Given the description of an element on the screen output the (x, y) to click on. 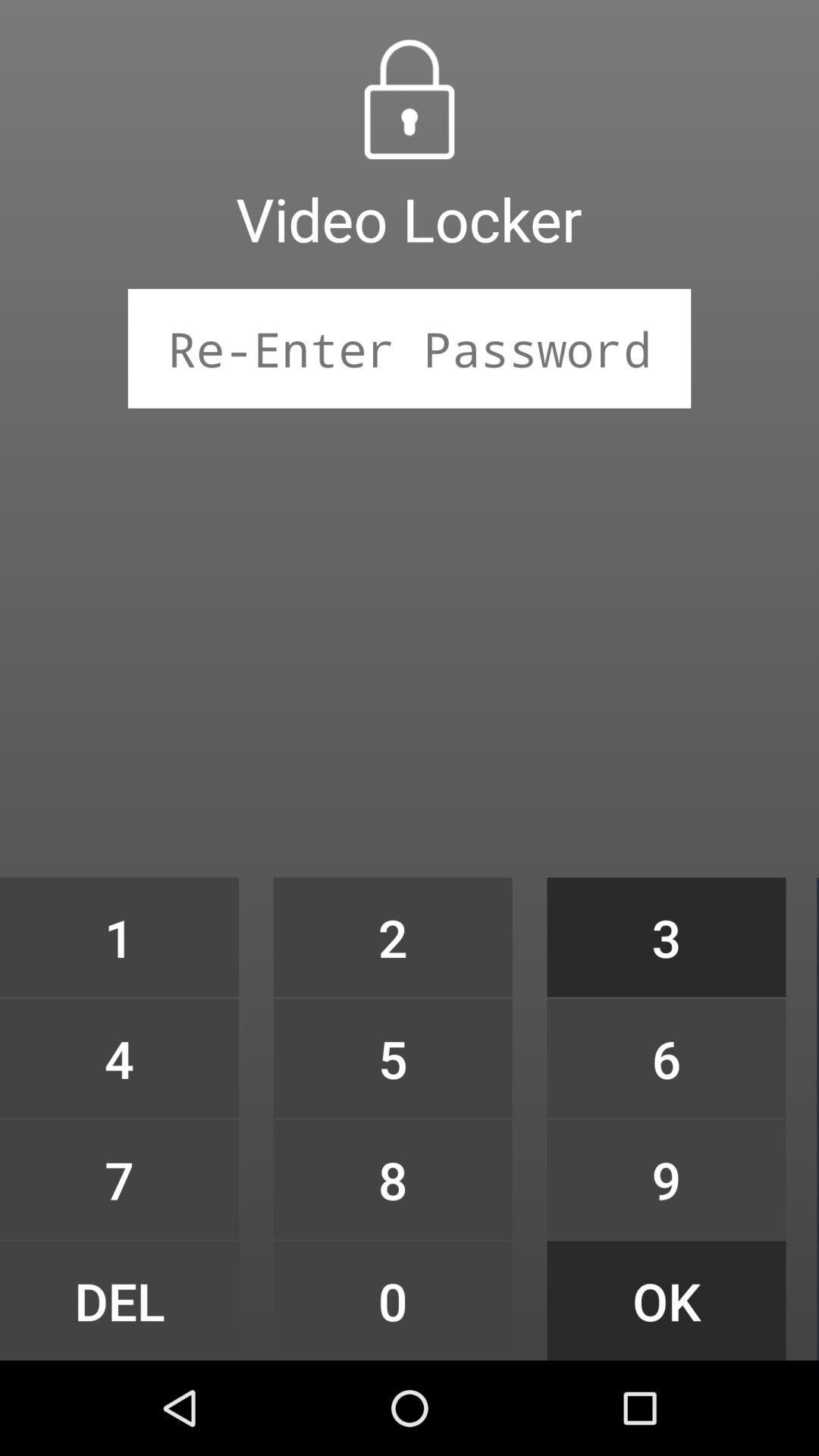
choose item above 0 icon (392, 1179)
